Given the description of an element on the screen output the (x, y) to click on. 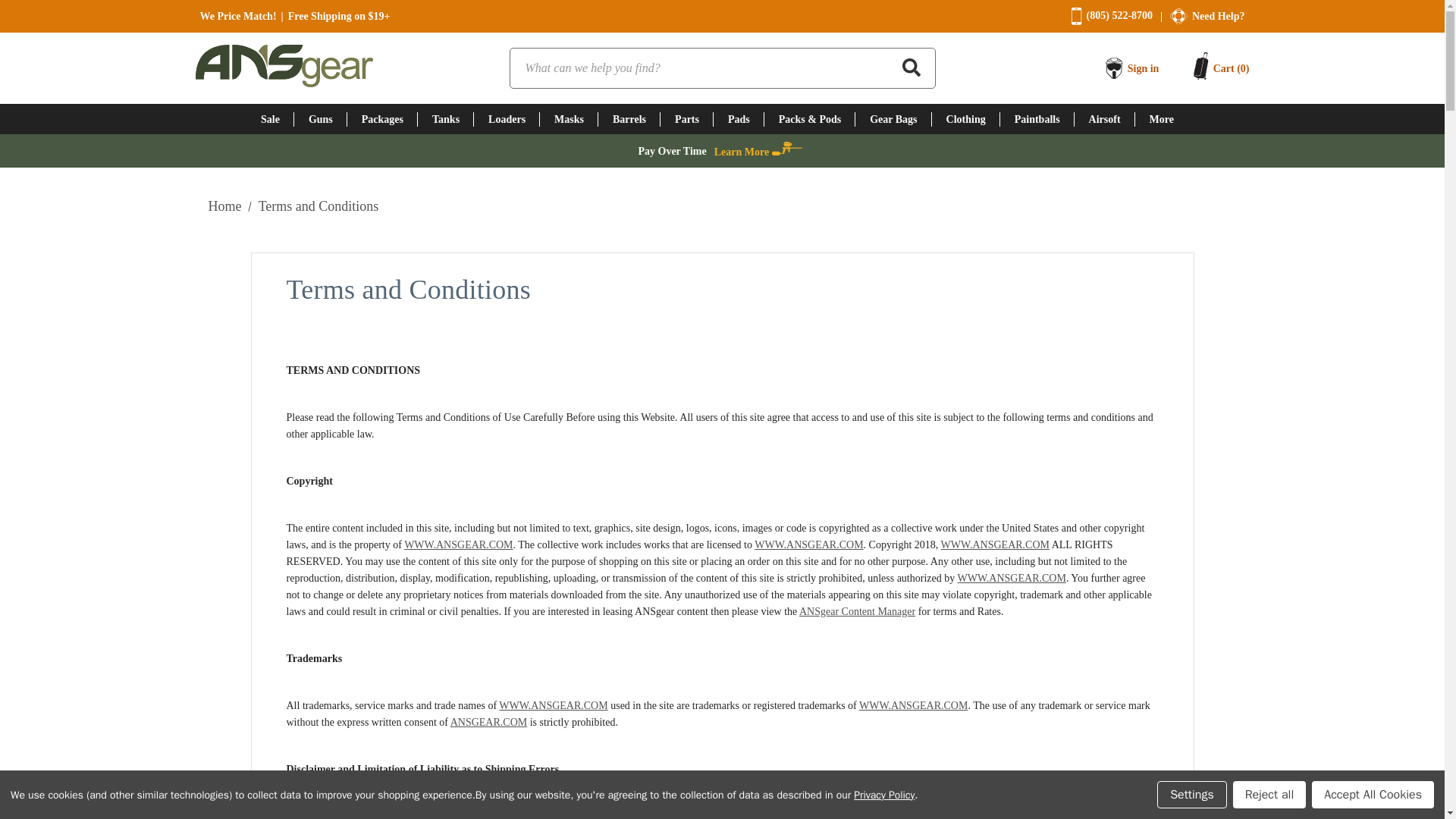
Need Help? (1218, 16)
Sign in (1142, 68)
We Price Match! (238, 16)
